Given the description of an element on the screen output the (x, y) to click on. 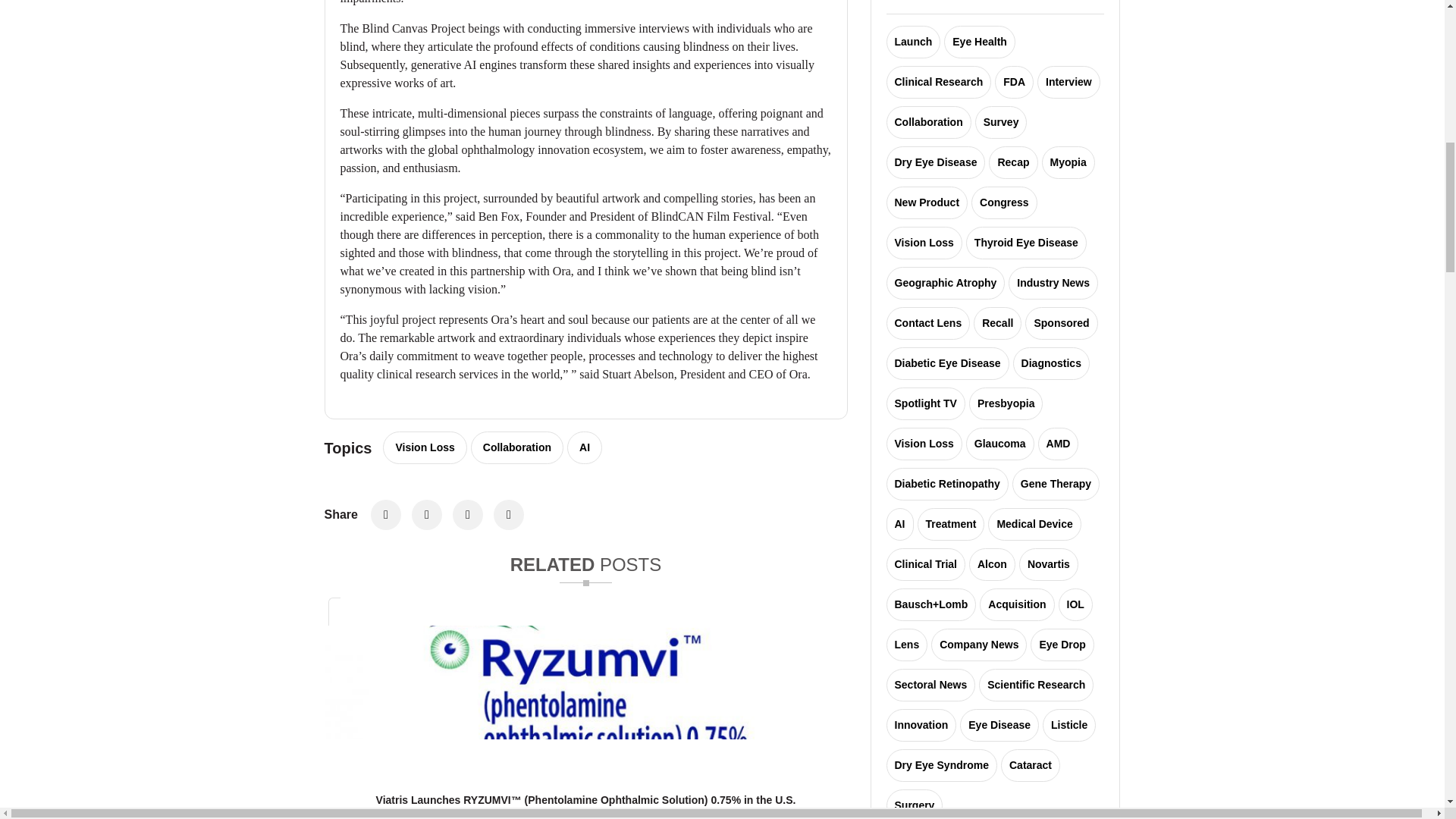
Survey (1001, 122)
Interview (1068, 82)
Dry Eye Disease (935, 162)
Collaboration (516, 447)
AI (584, 447)
Eye Health (978, 41)
Launch (912, 41)
Clinical Research (938, 82)
Collaboration (928, 122)
Myopia (1068, 162)
FDA (1013, 82)
Vision Loss (423, 447)
Recap (1012, 162)
